Given the description of an element on the screen output the (x, y) to click on. 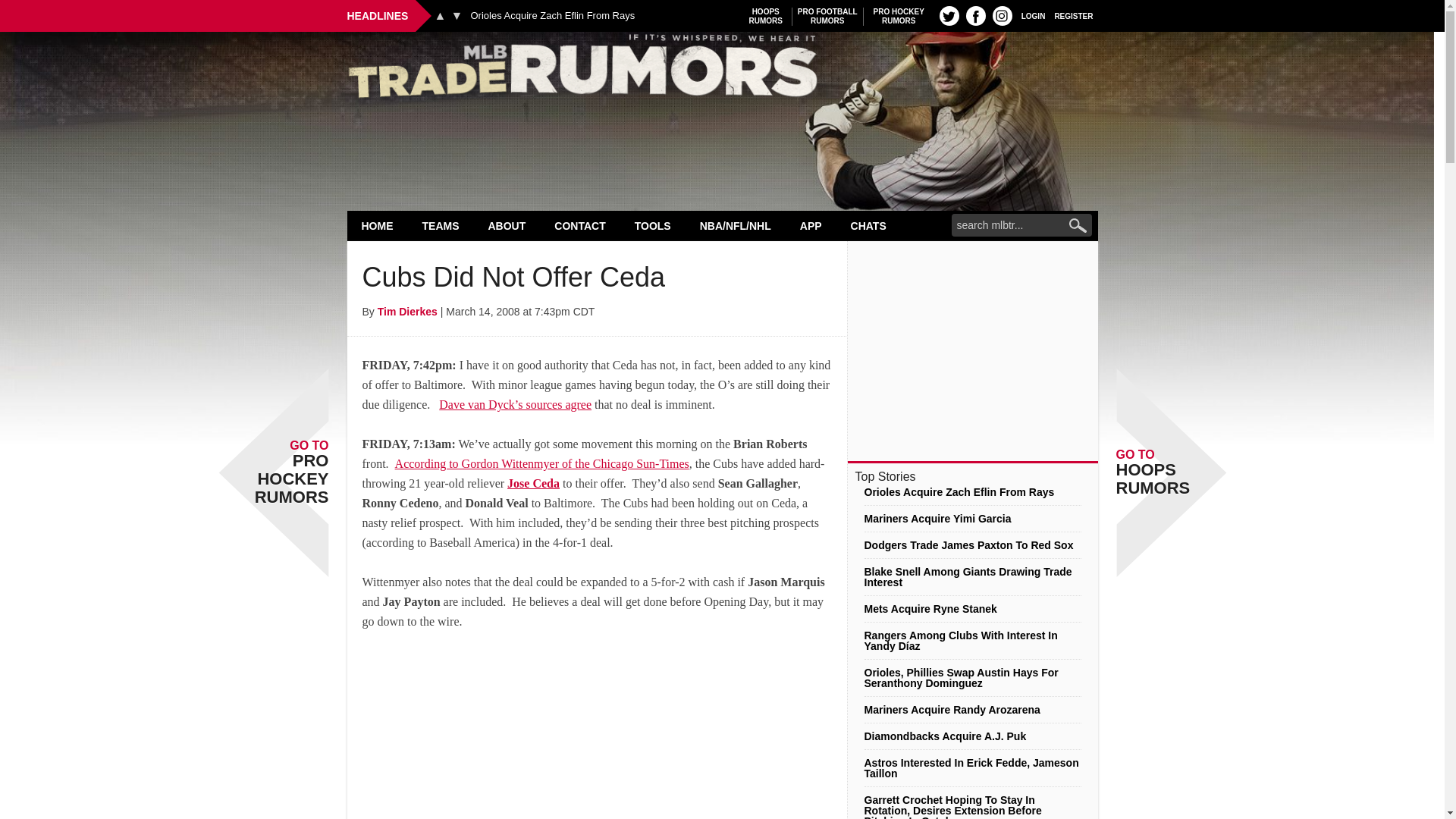
LOGIN (1032, 15)
HOME (377, 225)
Twitter profile (949, 15)
REGISTER (898, 16)
Orioles Acquire Zach Eflin From Rays (827, 16)
MLB Trade Rumors (1073, 15)
Search (765, 16)
Previous (552, 15)
Next (722, 69)
Instagram profile (439, 15)
FB profile (456, 15)
